Given the description of an element on the screen output the (x, y) to click on. 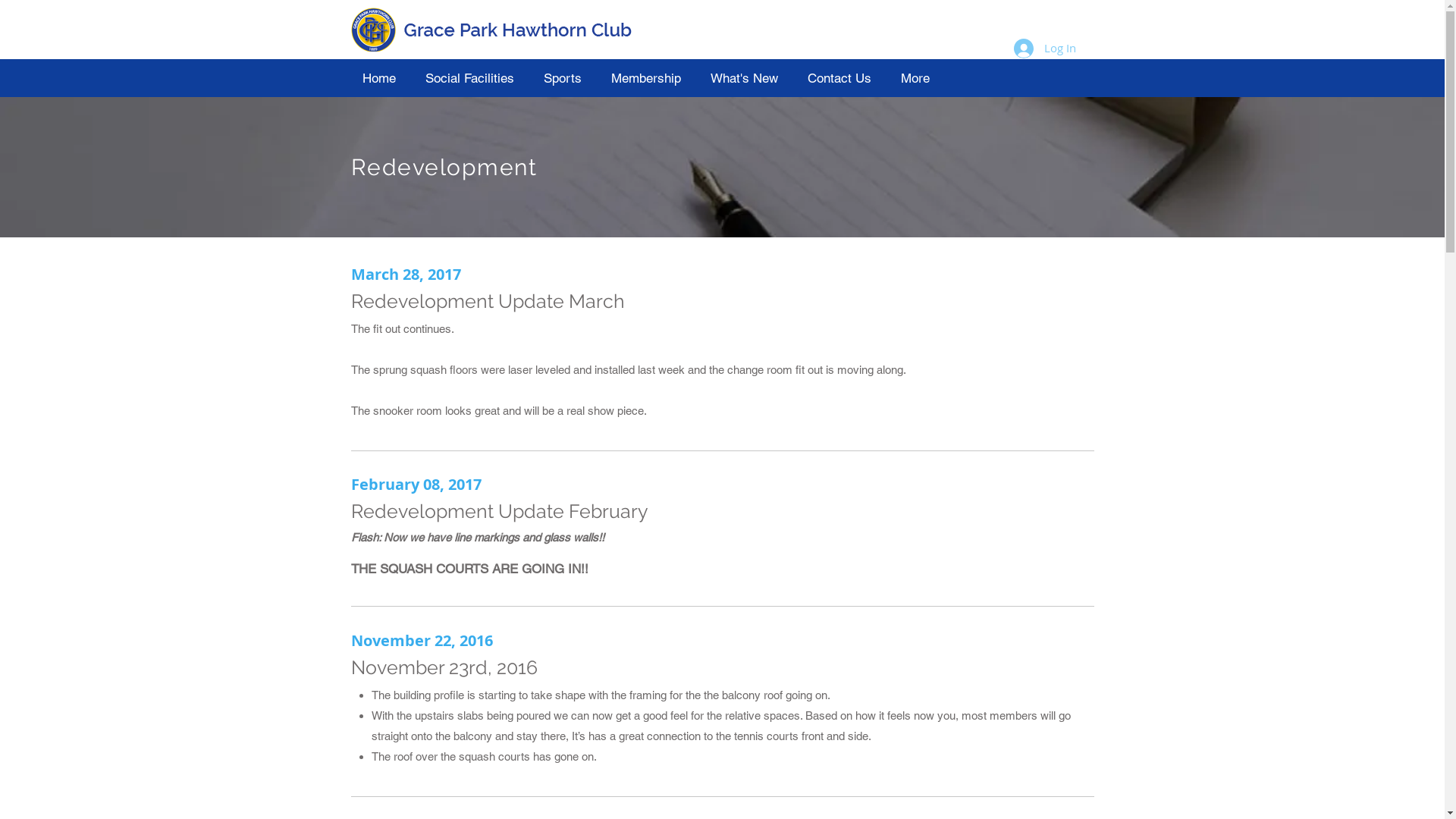
Social Facilities Element type: text (473, 78)
Contact Us Element type: text (842, 78)
Home Element type: text (381, 78)
Sports Element type: text (565, 78)
Membership Element type: text (648, 78)
Log In Element type: text (1043, 47)
What's New Element type: text (747, 78)
